Given the description of an element on the screen output the (x, y) to click on. 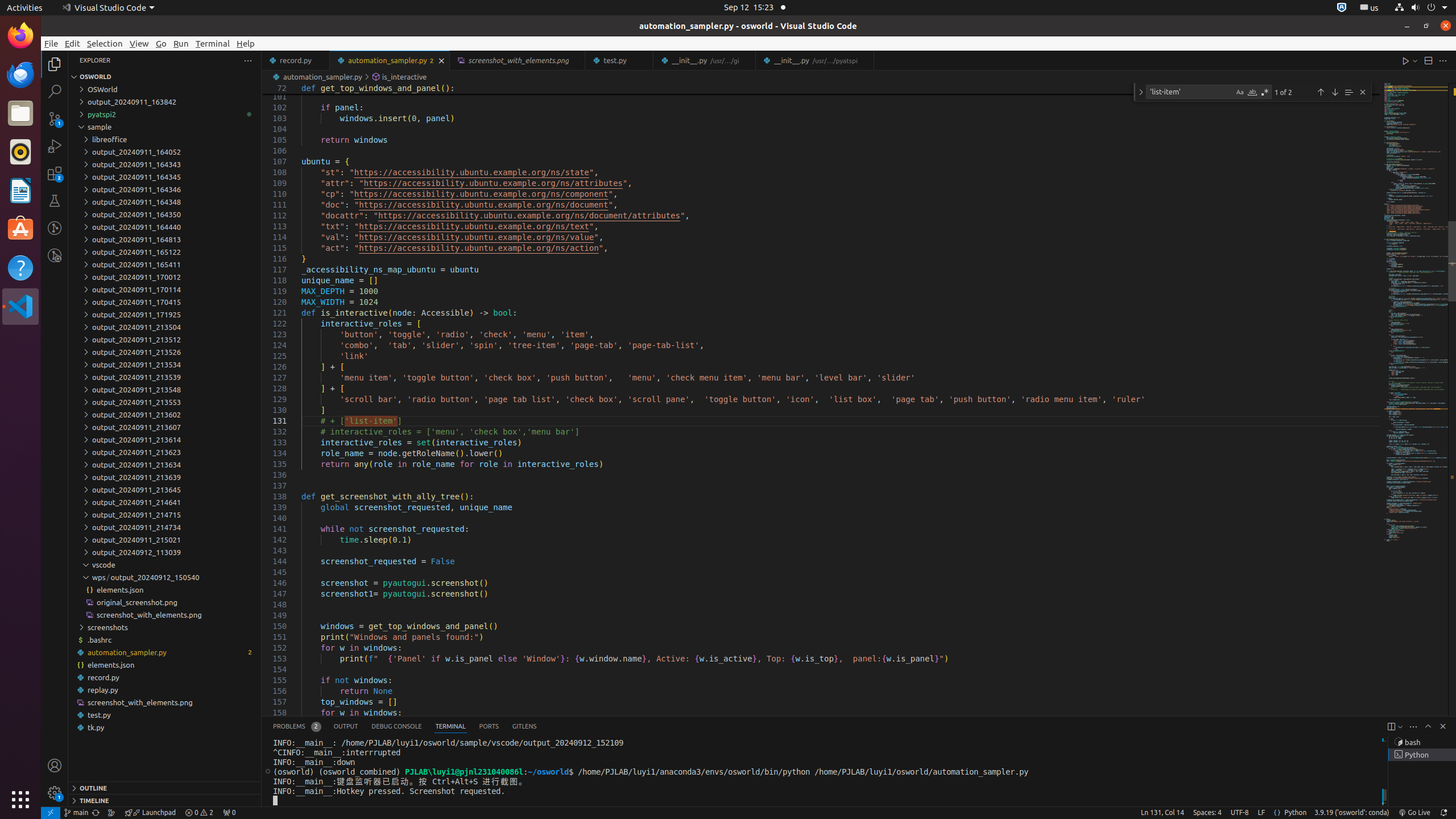
output_20240911_213526 Element type: tree-item (164, 351)
original_screenshot.png Element type: tree-item (164, 602)
Timeline Section Element type: push-button (164, 799)
Launch Profile... Element type: push-button (1399, 726)
